Given the description of an element on the screen output the (x, y) to click on. 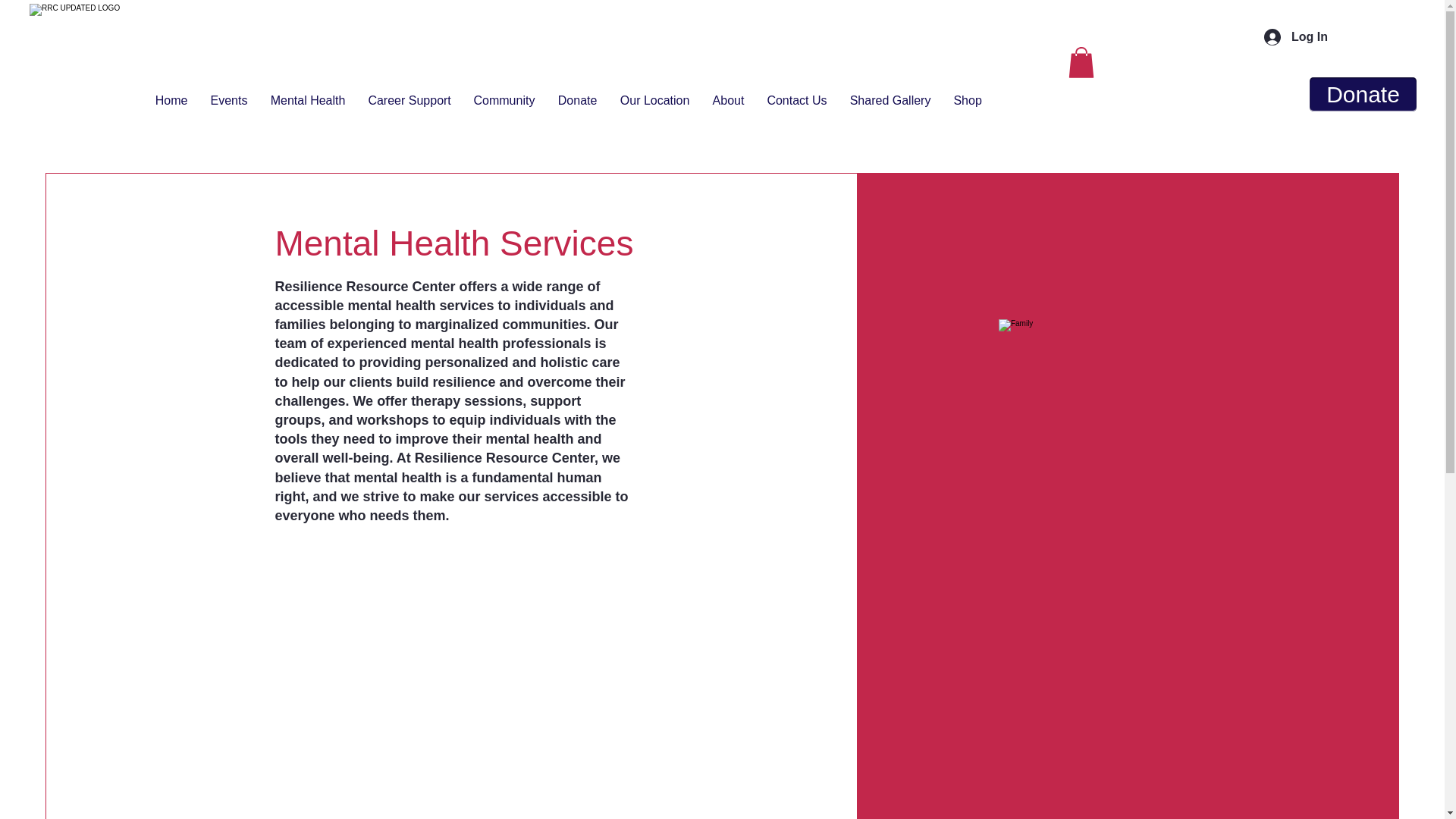
Home (170, 94)
Donate (1362, 93)
About (727, 94)
Contact Us (796, 94)
Log In (1294, 36)
Donate (577, 94)
Our Location (654, 94)
Shop (967, 94)
Events (228, 94)
Shared Gallery (890, 94)
